Given the description of an element on the screen output the (x, y) to click on. 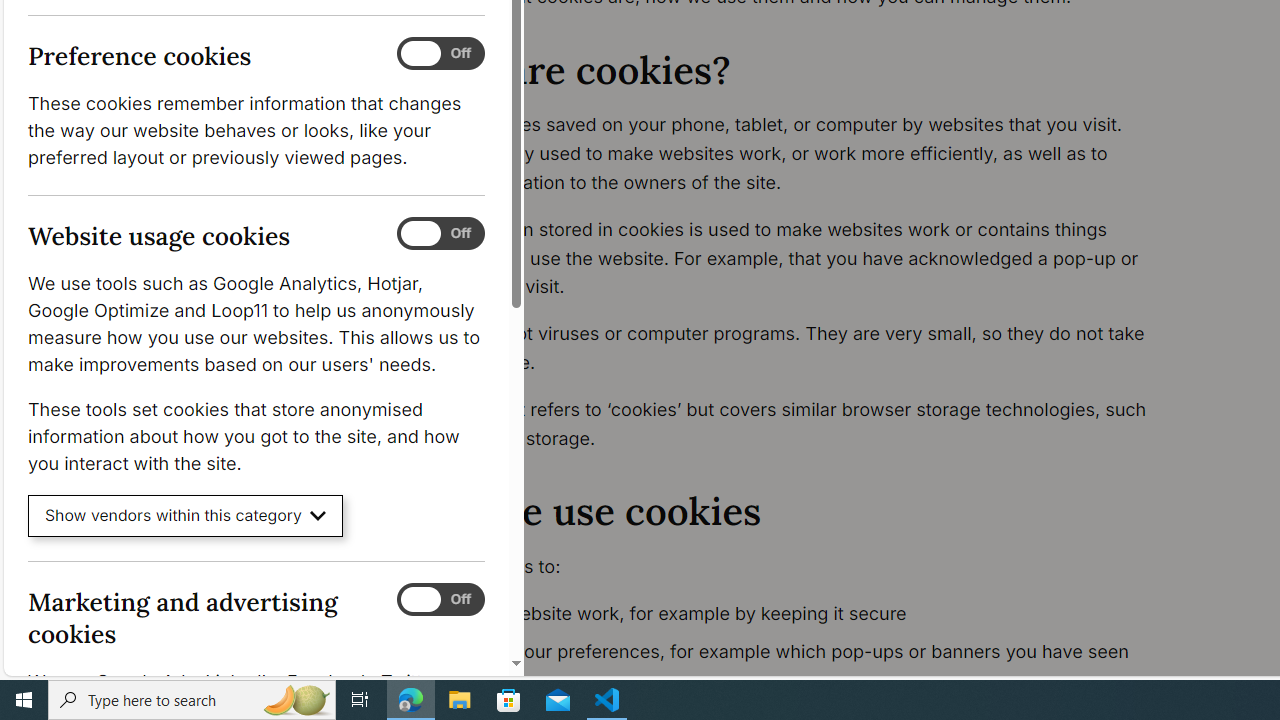
make our website work, for example by keeping it secure (796, 614)
Show vendors within this category (185, 516)
Preference cookies (440, 53)
Website usage cookies (440, 233)
Marketing and advertising cookies (440, 599)
